Given the description of an element on the screen output the (x, y) to click on. 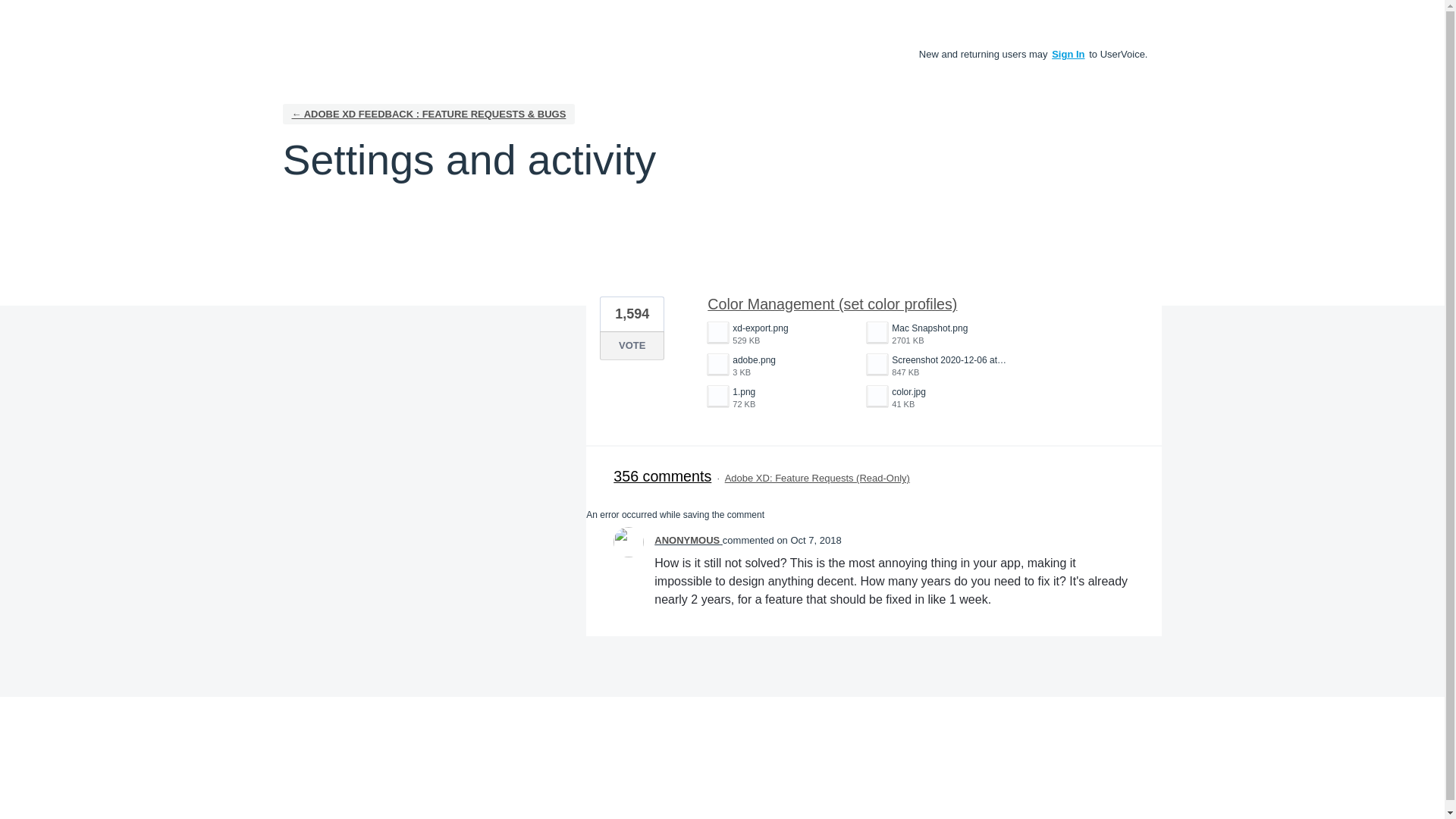
View Screenshot 2020-12-06 at 18.54.jpg (938, 365)
Sign In (1067, 53)
View 1.png (779, 397)
View color.jpg (779, 334)
356 comments (779, 397)
View Mac Snapshot.png (938, 397)
ANONYMOUS (938, 397)
Voting has closed (938, 334)
View xd-export.png (938, 365)
